Given the description of an element on the screen output the (x, y) to click on. 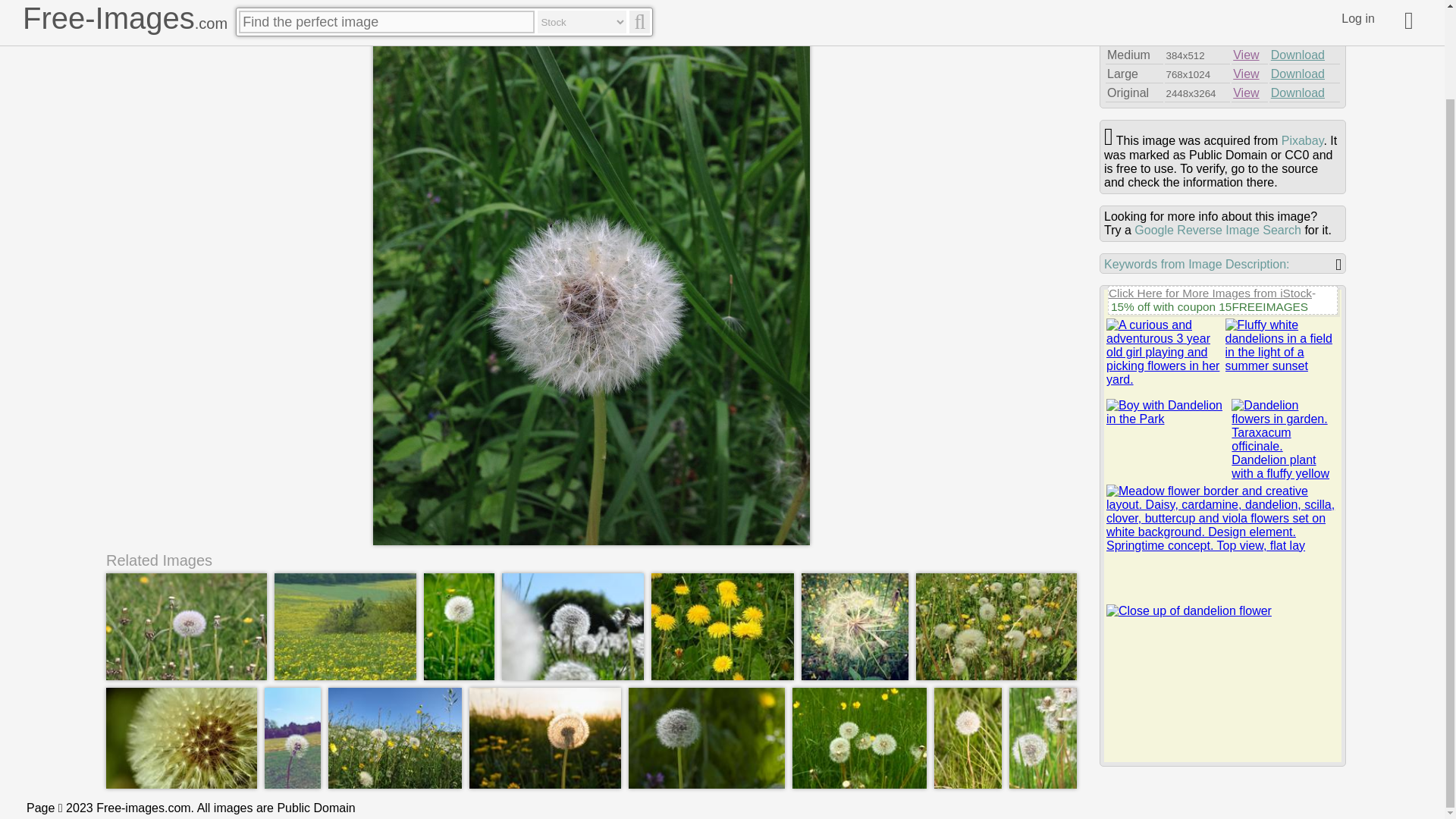
View (1246, 16)
Download (1297, 73)
View (1246, 92)
View (1246, 54)
Click Here for More Images from iStock (1209, 292)
Download (1297, 16)
Download (1297, 35)
View (1246, 73)
Download (1297, 54)
Pixabay (1302, 140)
View (1246, 35)
Google Reverse Image Search (1217, 229)
Download (1297, 92)
